Given the description of an element on the screen output the (x, y) to click on. 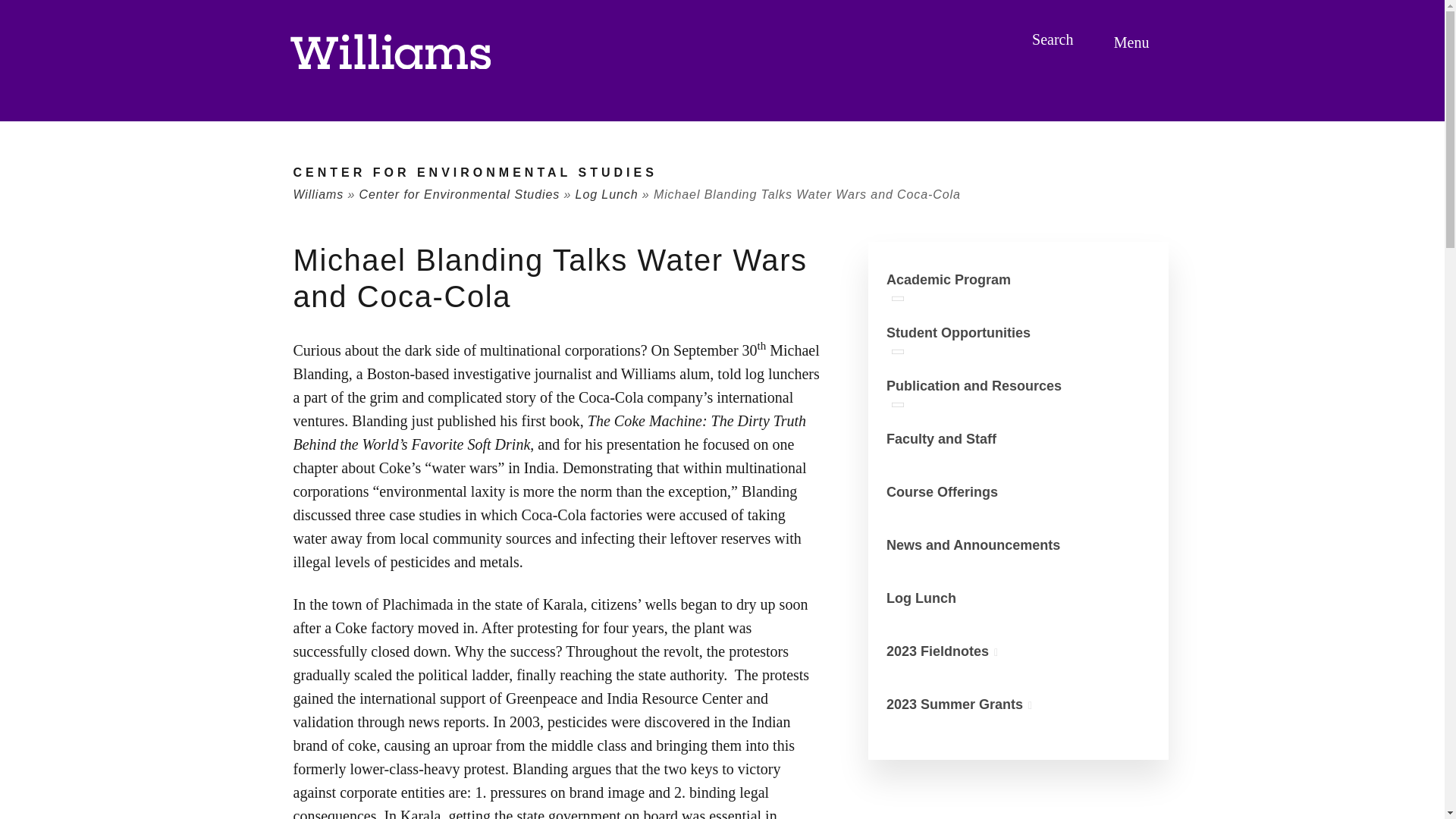
Menu (1134, 41)
Search (1054, 38)
Go to Williams College Home (389, 51)
